Given the description of an element on the screen output the (x, y) to click on. 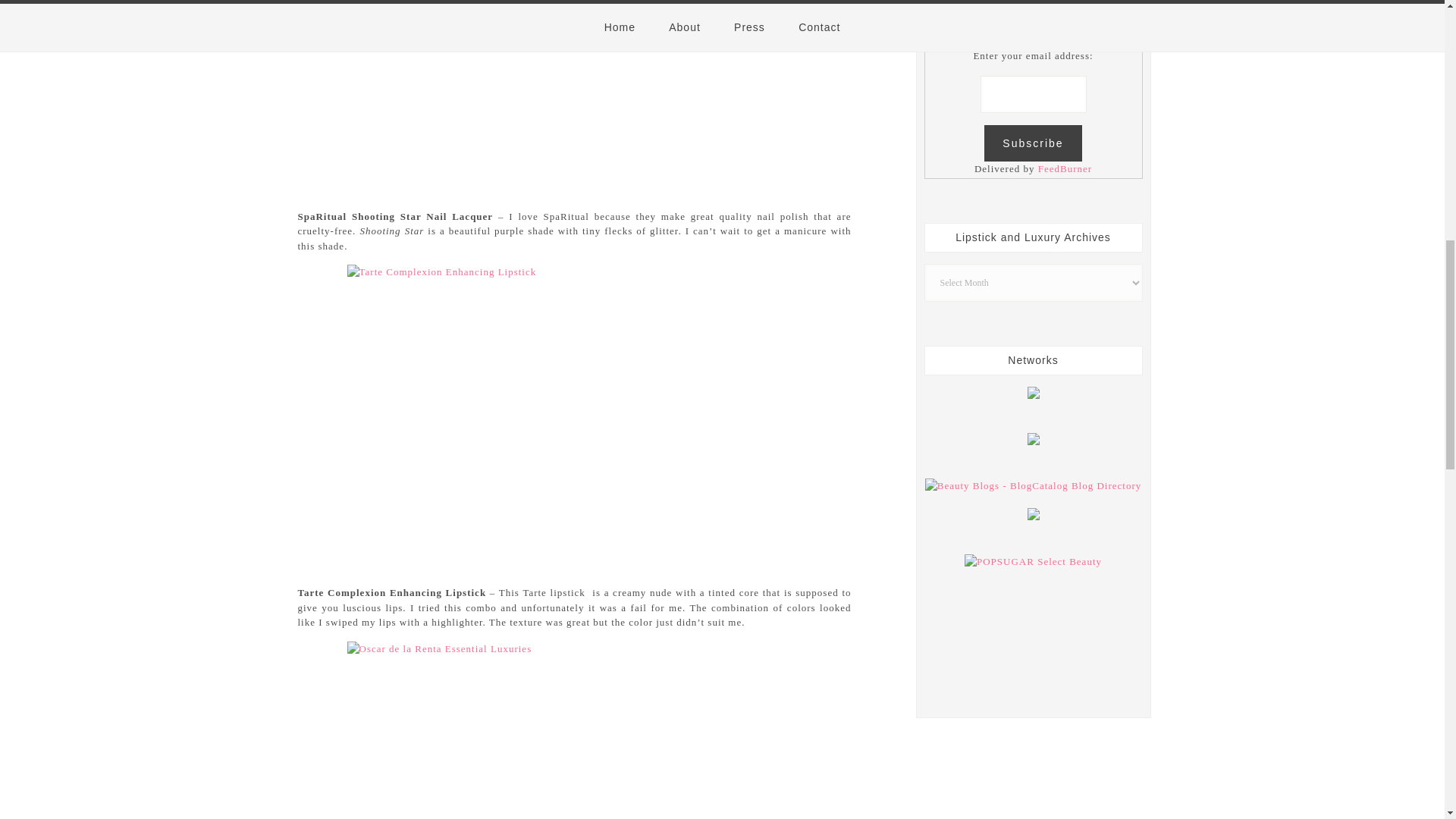
Subscribe (1032, 143)
Beauty Blogs - BlogCatalog Blog Directory (1032, 485)
FeedBurner (1065, 168)
Subscribe (1032, 143)
